Given the description of an element on the screen output the (x, y) to click on. 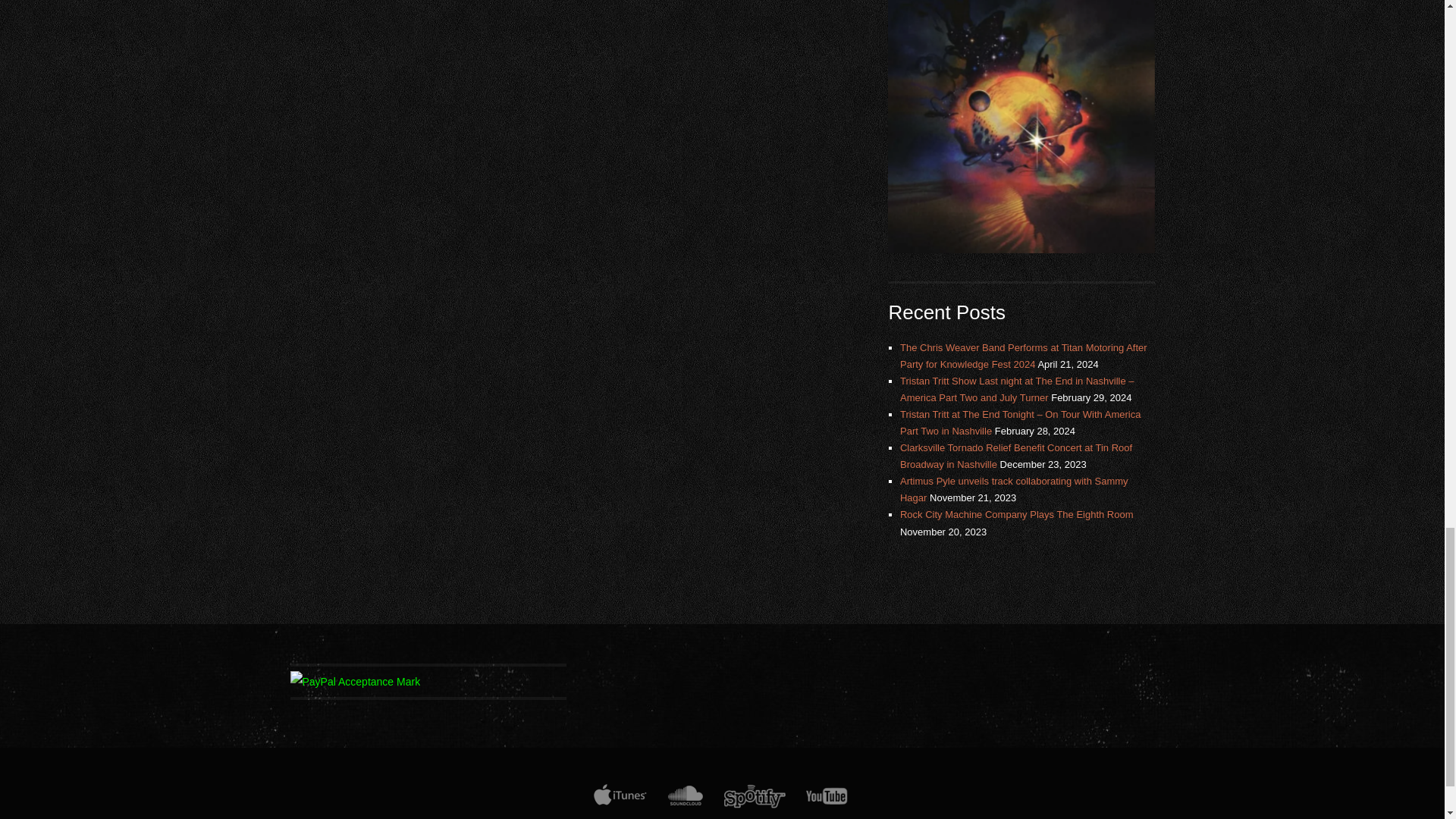
Itunes (620, 803)
Soundcloud (684, 803)
Youtube (826, 803)
How PayPal Works (354, 681)
Spotify (753, 803)
